Given the description of an element on the screen output the (x, y) to click on. 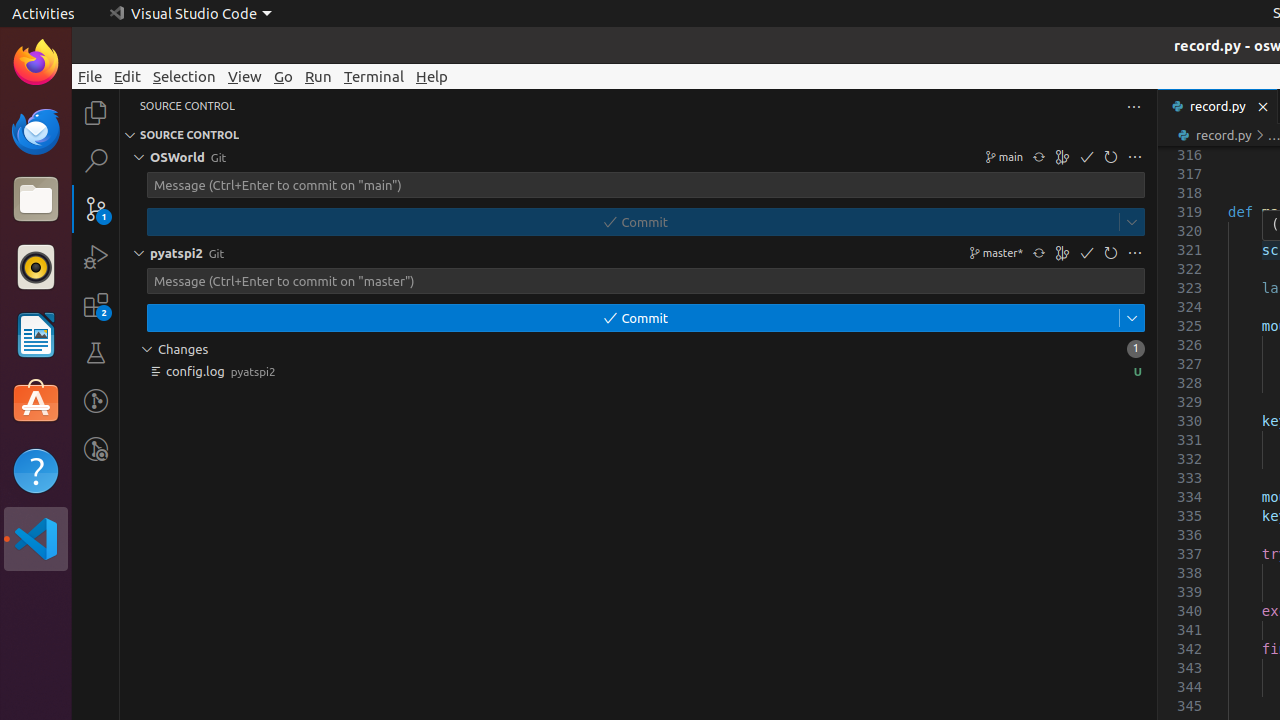
Edit Element type: push-button (127, 76)
Selection Element type: push-button (184, 76)
Testing Element type: page-tab (96, 353)
Source Control Section Element type: push-button (638, 135)
$(check) Commit Element type: tree-item (638, 318)
